Given the description of an element on the screen output the (x, y) to click on. 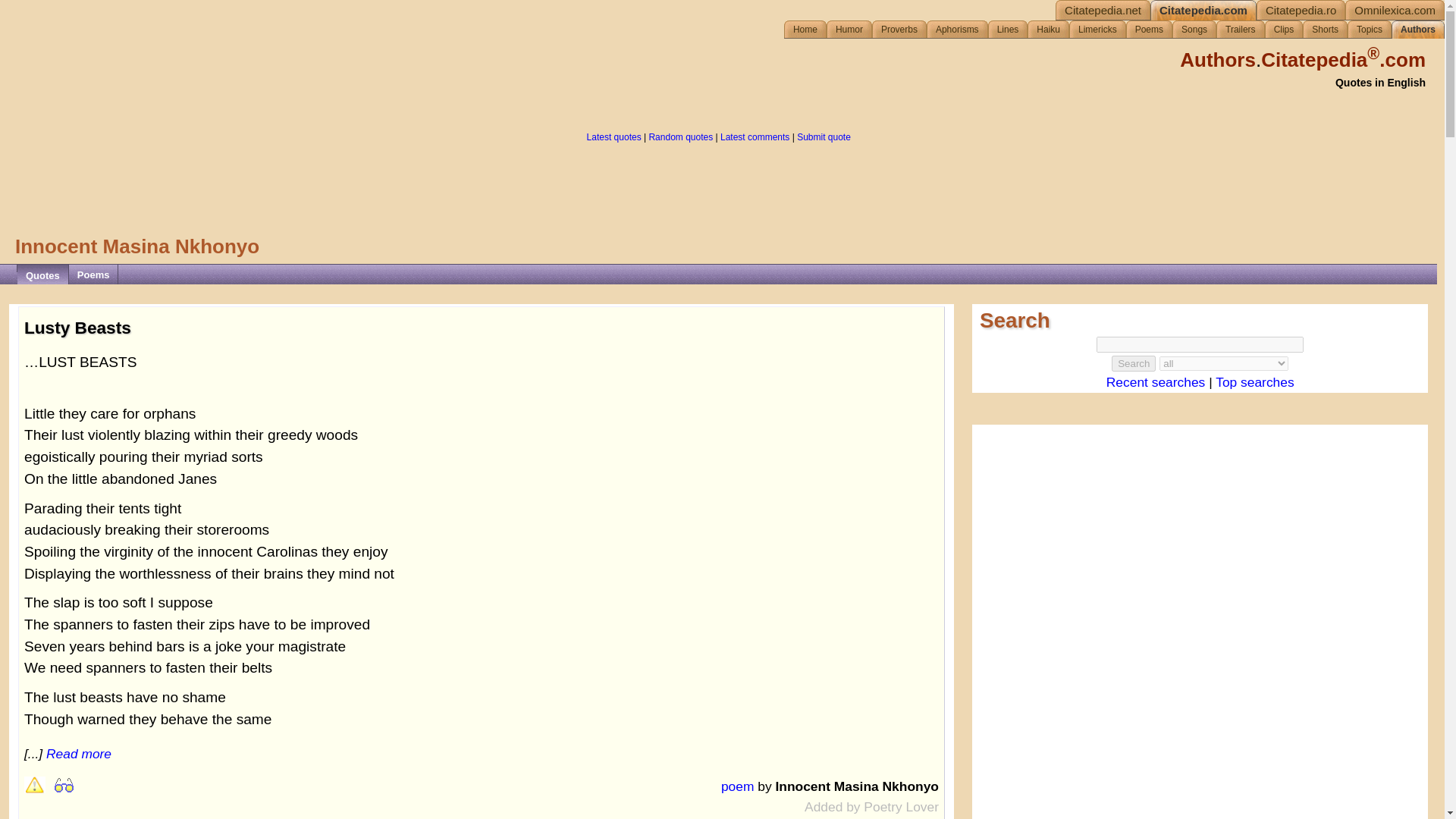
Proverbs (902, 28)
Poems (1152, 28)
Quotes (42, 274)
movie trailers (1244, 28)
poetry (1152, 28)
Humor (852, 28)
Citatepedia.com (1206, 10)
Advertisement (718, 187)
English quotes (1206, 10)
Latest comments (754, 136)
